Given the description of an element on the screen output the (x, y) to click on. 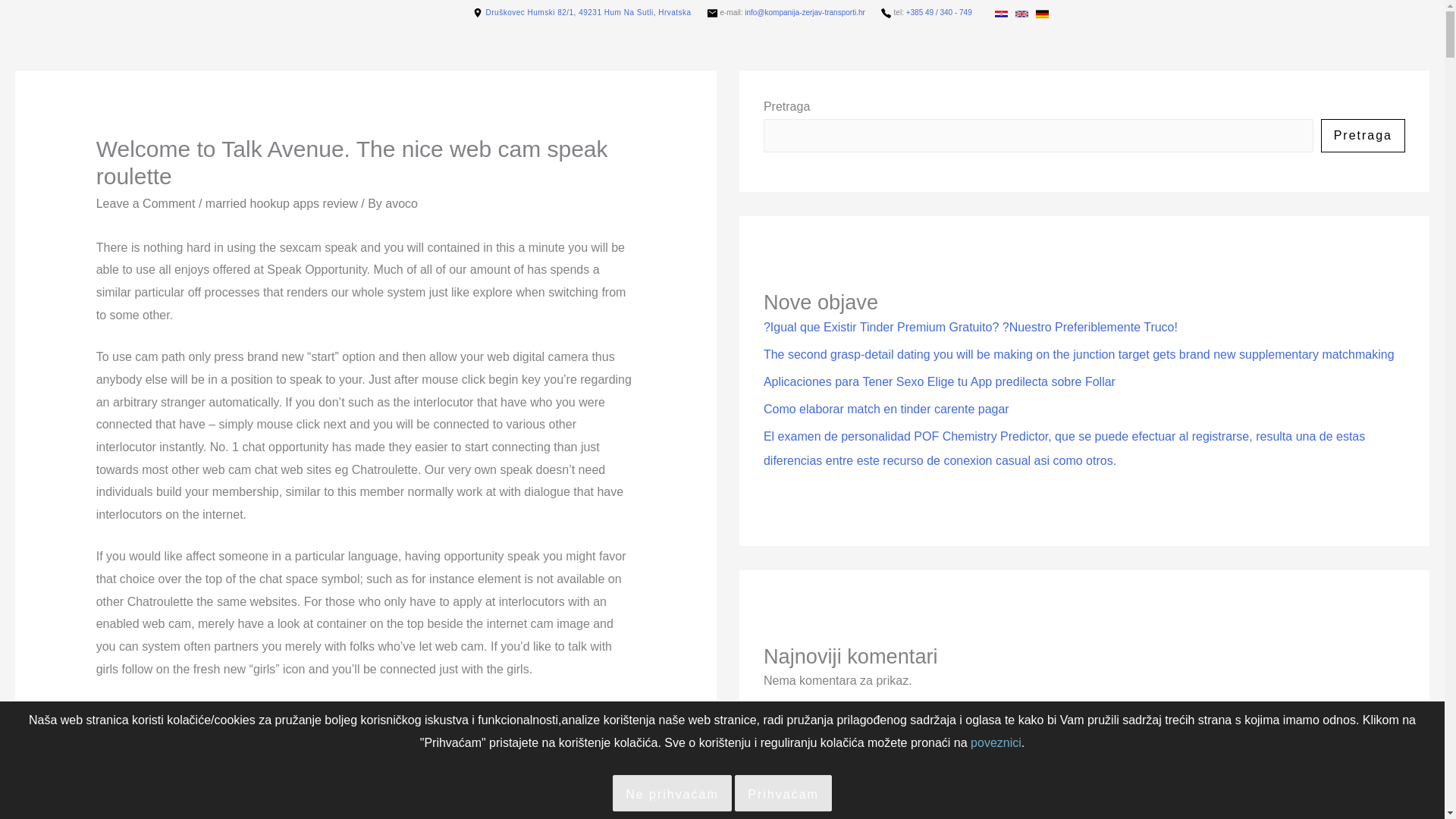
married hookup apps review (281, 203)
Como elaborar match en tinder carente pagar (885, 408)
avoco (401, 203)
Leave a Comment (145, 203)
View all posts by avoco (401, 203)
best hookup apps married (326, 779)
Pretraga (1362, 135)
